Given the description of an element on the screen output the (x, y) to click on. 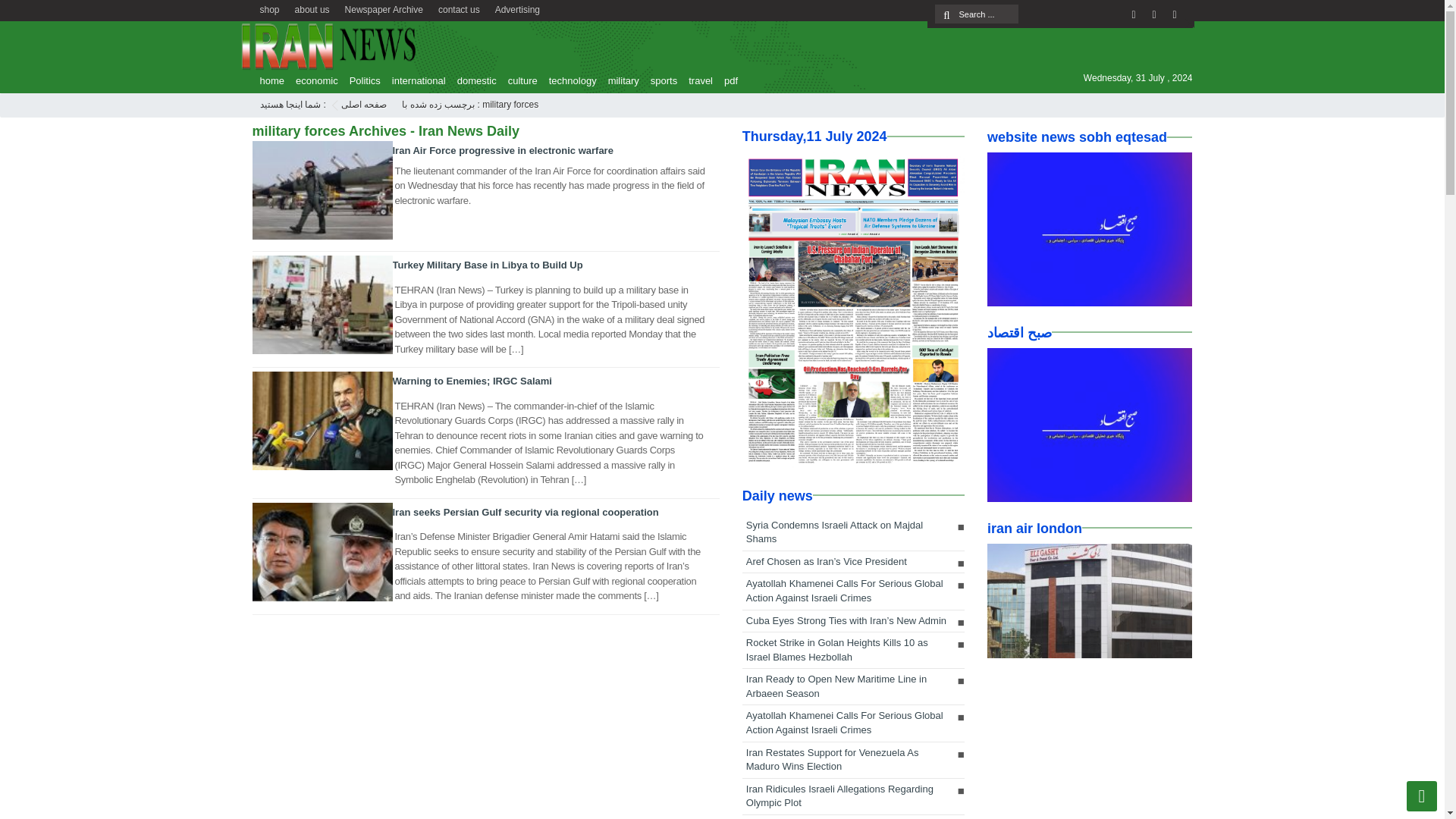
Thursday,16 June 2022 (852, 310)
home (267, 80)
culture (518, 80)
technology (568, 80)
Iran Air Force progressive in electronic warfare (502, 150)
international (414, 80)
travel (697, 80)
Iran News Daily (363, 104)
sports (660, 80)
Newspaper Archive (383, 7)
shop (268, 7)
economic (312, 80)
pdf (727, 80)
about us (311, 7)
Politics (361, 80)
